Given the description of an element on the screen output the (x, y) to click on. 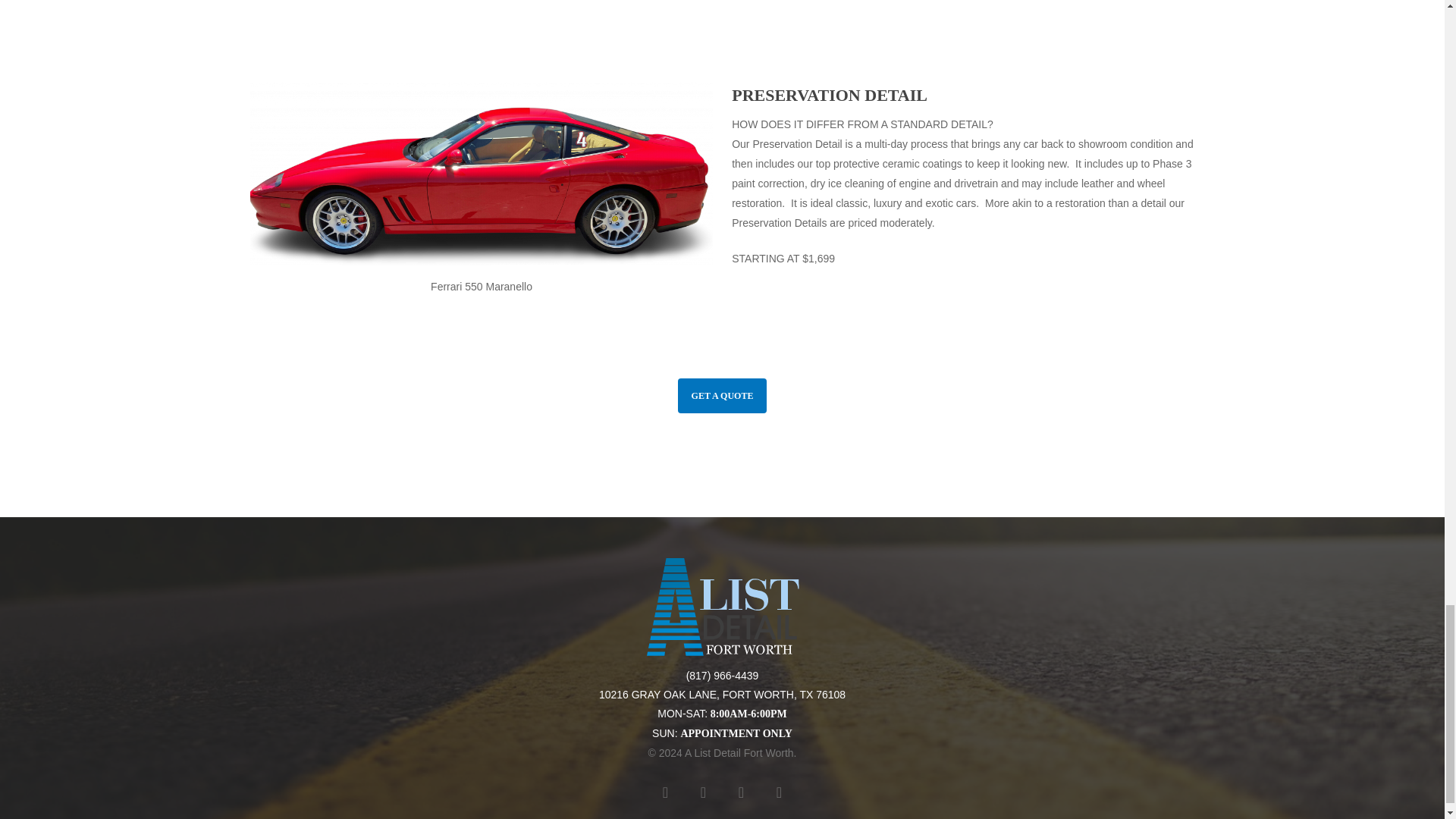
GET A QUOTE (722, 395)
google-plus (778, 791)
youtube (740, 791)
twitter (665, 791)
facebook (702, 791)
